Given the description of an element on the screen output the (x, y) to click on. 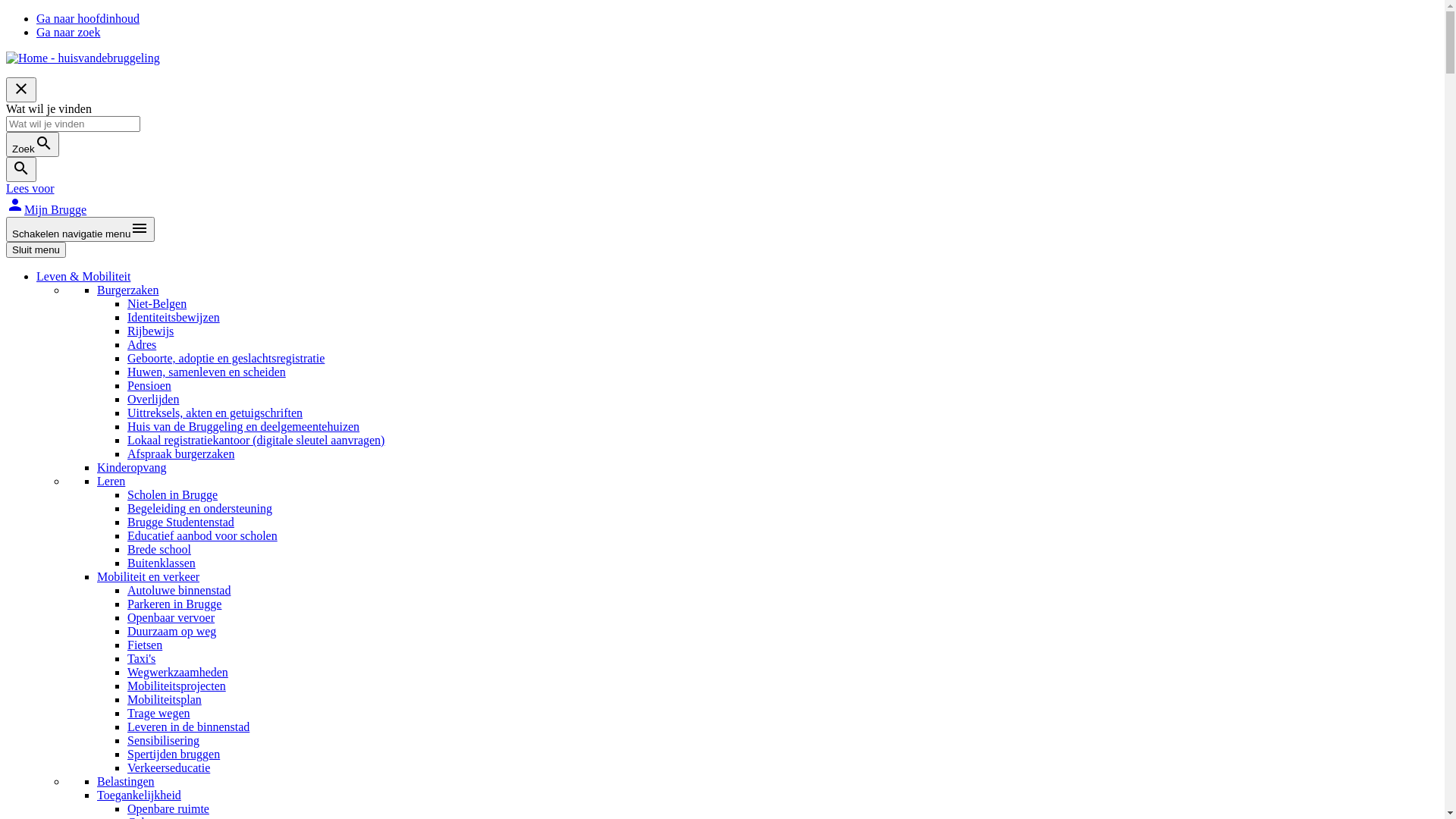
Mobiliteitsprojecten Element type: text (176, 685)
Rijbewijs Element type: text (150, 330)
Brede school Element type: text (159, 548)
Taxi's Element type: text (141, 658)
Mobiliteitsplan Element type: text (164, 699)
Toegankelijkheid Element type: text (139, 794)
Lokaal registratiekantoor (digitale sleutel aanvragen) Element type: text (255, 439)
Lees voor Element type: text (30, 188)
Openbaar vervoer Element type: text (170, 617)
Niet-Belgen Element type: text (156, 303)
Buitenklassen Element type: text (161, 562)
Parkeren in Brugge Element type: text (174, 603)
Leren Element type: text (111, 480)
Kinderopvang Element type: text (131, 467)
Trage wegen Element type: text (158, 712)
Fietsen Element type: text (144, 644)
Openbare ruimte Element type: text (168, 808)
Spertijden bruggen Element type: text (173, 753)
Leveren in de binnenstad Element type: text (188, 726)
Ga naar hoofdinhoud Element type: text (87, 18)
Belastingen Element type: text (125, 781)
Duurzaam op weg Element type: text (171, 630)
Educatief aanbod voor scholen Element type: text (202, 535)
Begeleiding en ondersteuning Element type: text (199, 508)
Burgerzaken Element type: text (127, 289)
Sensibilisering Element type: text (163, 740)
Leven & Mobiliteit Element type: text (83, 275)
Afspraak burgerzaken Element type: text (180, 453)
Huwen, samenleven en scheiden Element type: text (206, 371)
Identiteitsbewijzen Element type: text (173, 316)
Verkeerseducatie Element type: text (168, 767)
Ga naar de startpagina Element type: hover (83, 57)
Uittreksels, akten en getuigschriften Element type: text (214, 412)
Scholen in Brugge Element type: text (172, 494)
Brugge Studentenstad Element type: text (180, 521)
Ga naar zoek Element type: text (68, 31)
Mobiliteit en verkeer Element type: text (148, 576)
Wegwerkzaamheden Element type: text (177, 671)
Huis van de Bruggeling en deelgemeentehuizen Element type: text (243, 426)
Autoluwe binnenstad Element type: text (178, 589)
Geboorte, adoptie en geslachtsregistratie Element type: text (225, 357)
Sluit menu Element type: text (35, 249)
Overlijden Element type: text (152, 398)
Adres Element type: text (141, 344)
Pensioen Element type: text (149, 385)
